Given the description of an element on the screen output the (x, y) to click on. 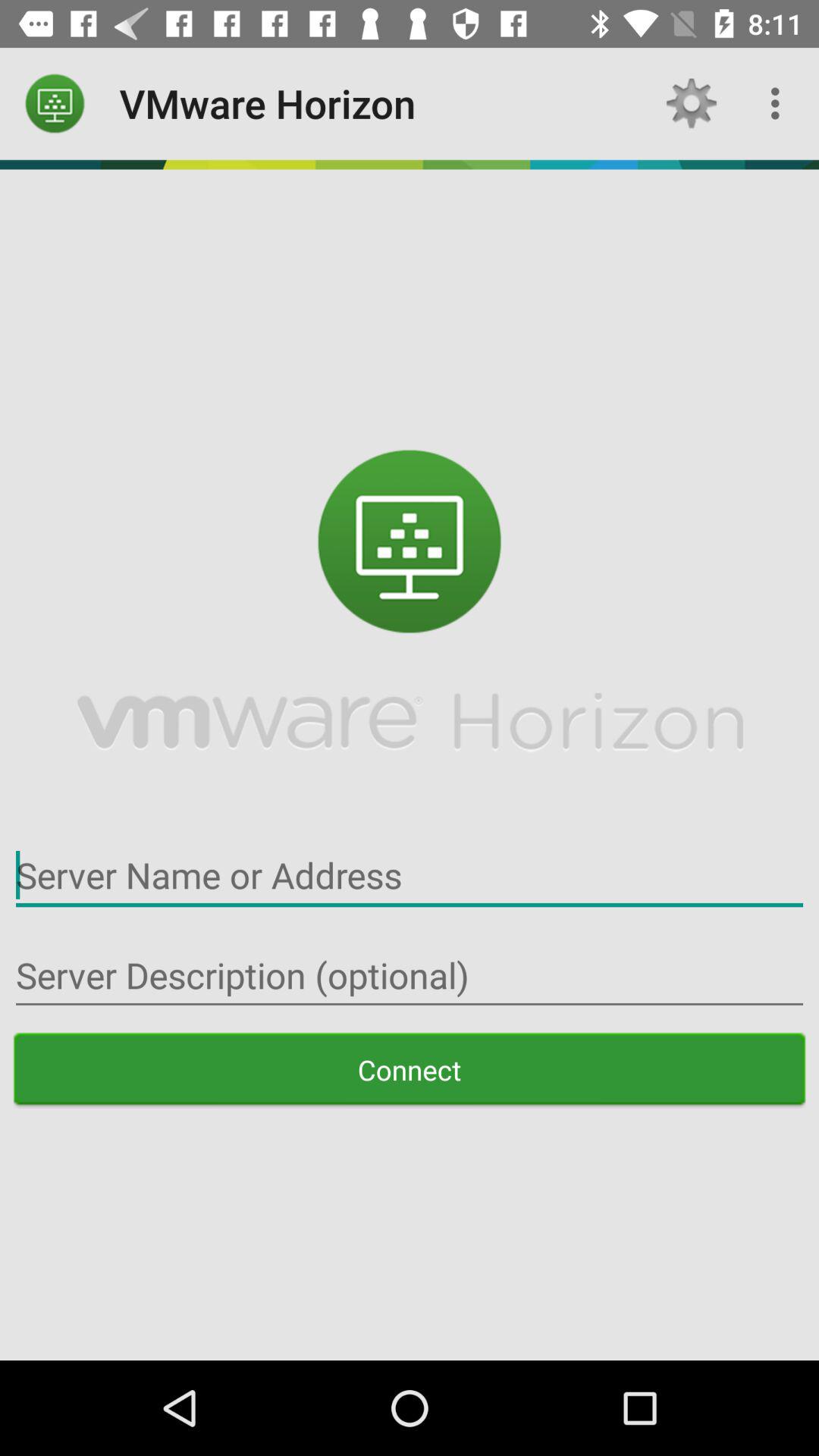
choose item above the connect icon (409, 975)
